Given the description of an element on the screen output the (x, y) to click on. 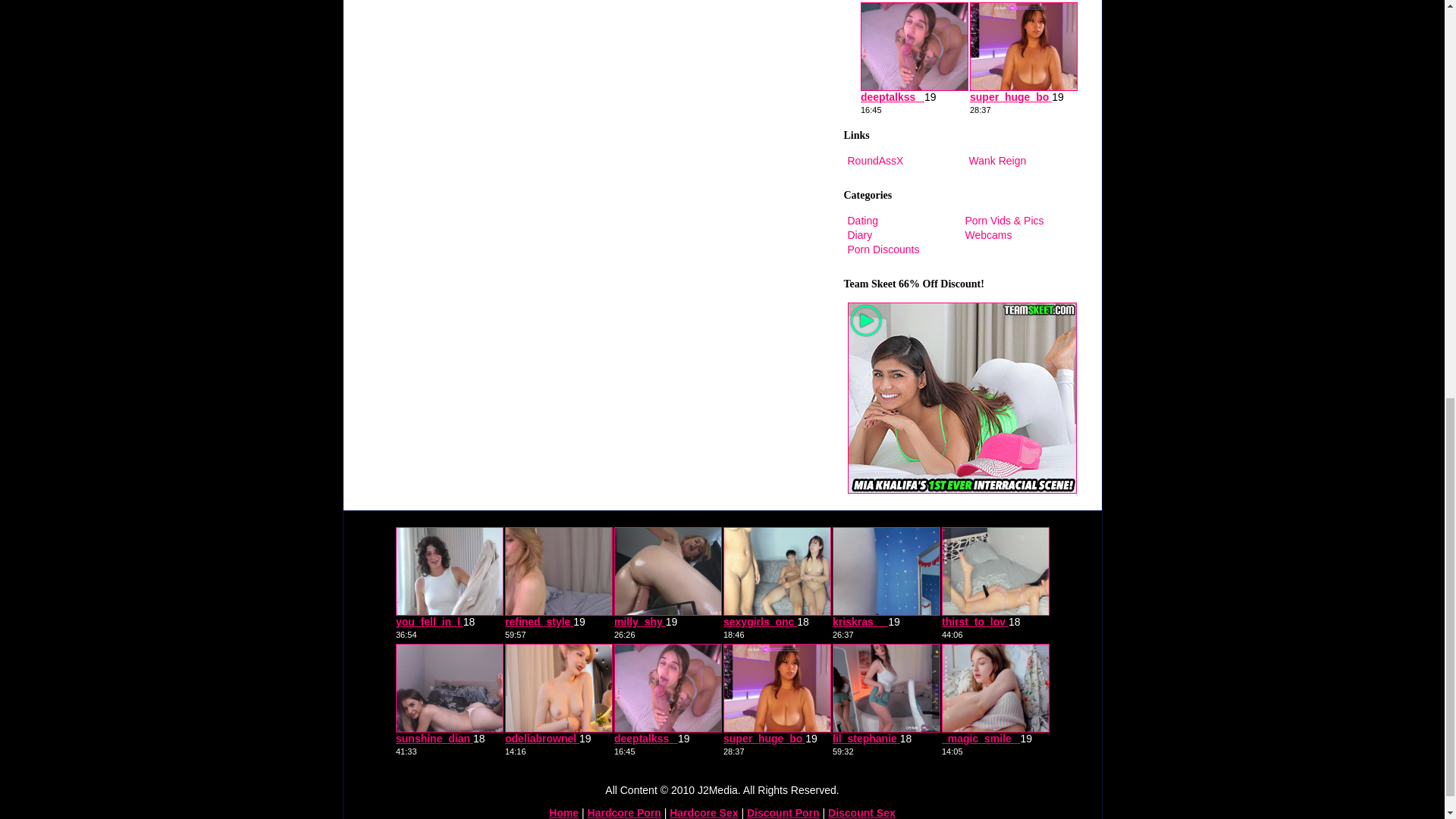
Porn Discounts (883, 249)
Diary (859, 234)
Dating (862, 220)
RoundAssX (875, 160)
Webcams (987, 234)
Wank Reign (997, 160)
